Given the description of an element on the screen output the (x, y) to click on. 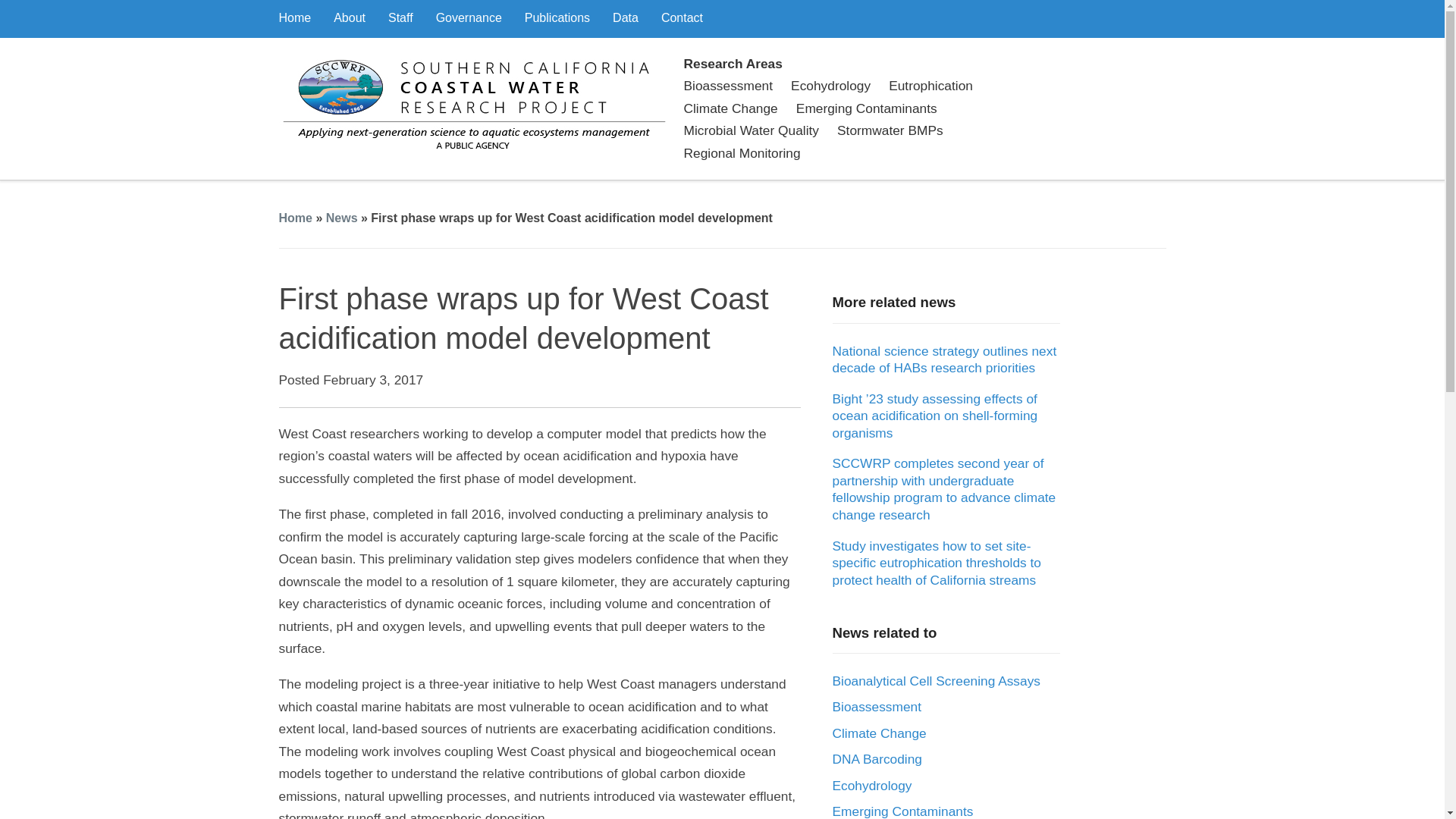
Data (625, 17)
Regional Monitoring (742, 153)
Microbial Water Quality (751, 130)
News (342, 217)
Research Areas (861, 64)
Emerging Contaminants (866, 108)
Governance (468, 17)
Home (296, 217)
Publications (556, 17)
Home (295, 17)
